Given the description of an element on the screen output the (x, y) to click on. 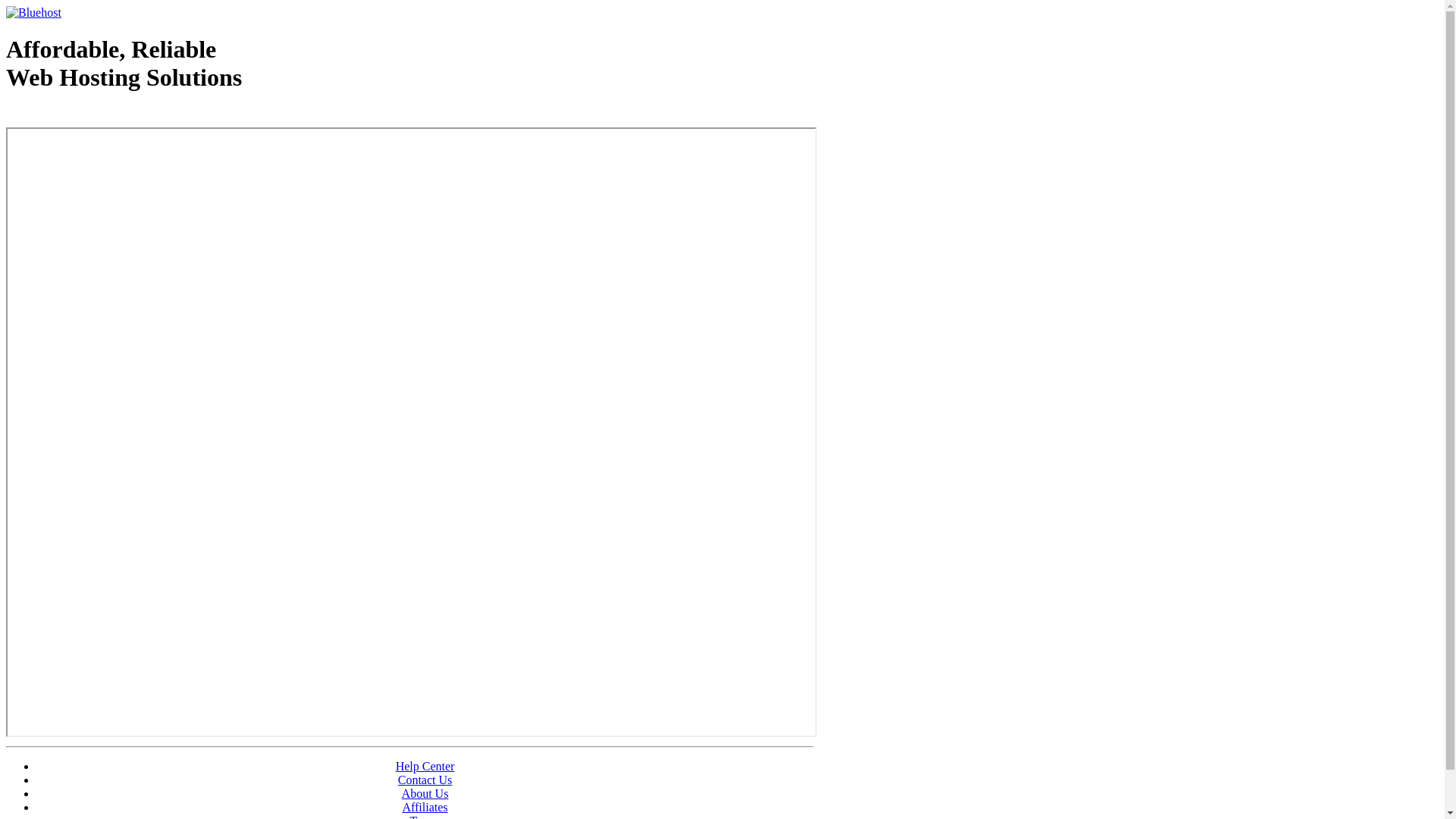
Web Hosting - courtesy of www.bluehost.com Element type: text (94, 115)
Contact Us Element type: text (425, 779)
About Us Element type: text (424, 793)
Affiliates Element type: text (424, 806)
Help Center Element type: text (425, 765)
